Given the description of an element on the screen output the (x, y) to click on. 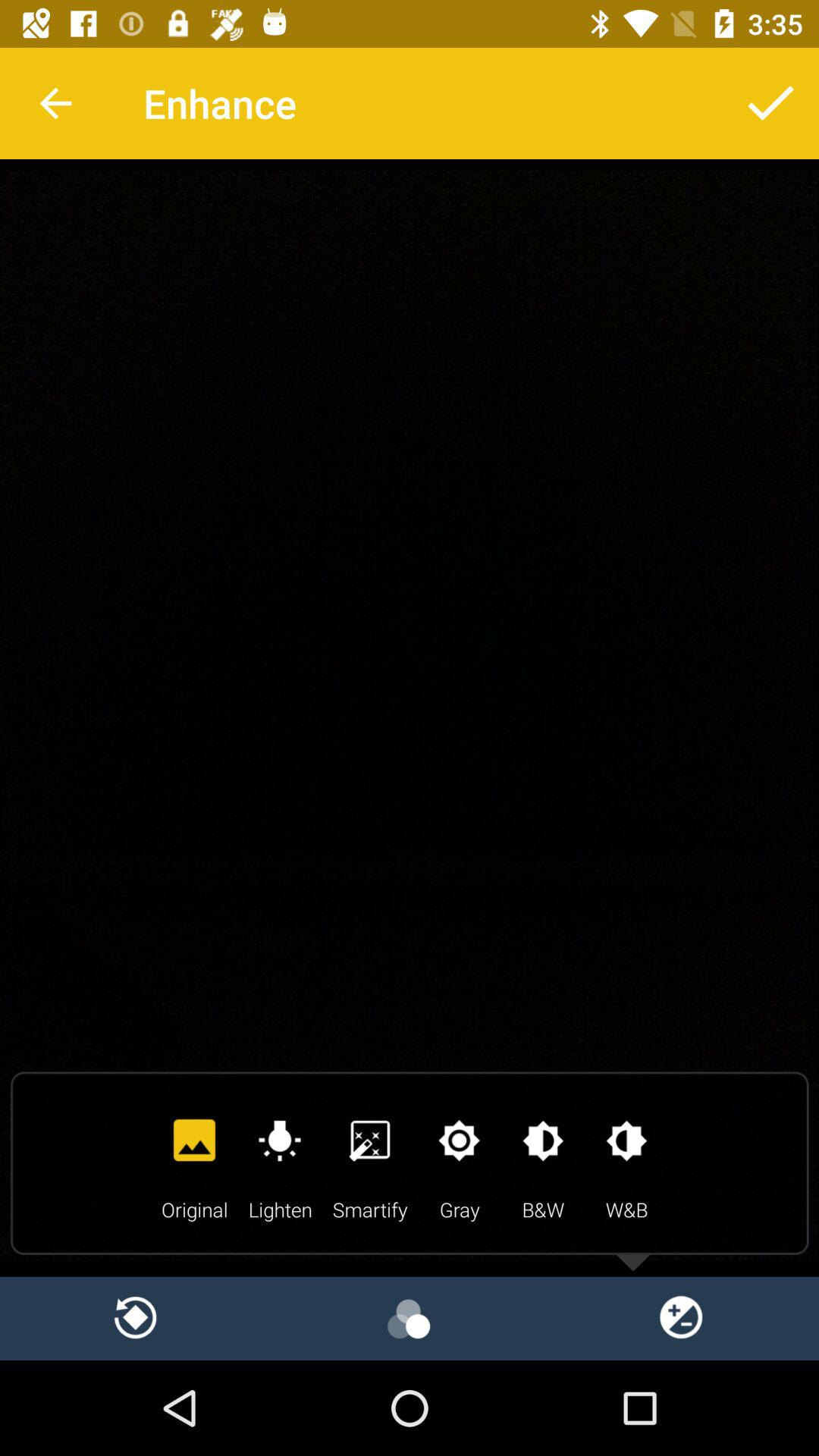
view blink option (409, 1318)
